Given the description of an element on the screen output the (x, y) to click on. 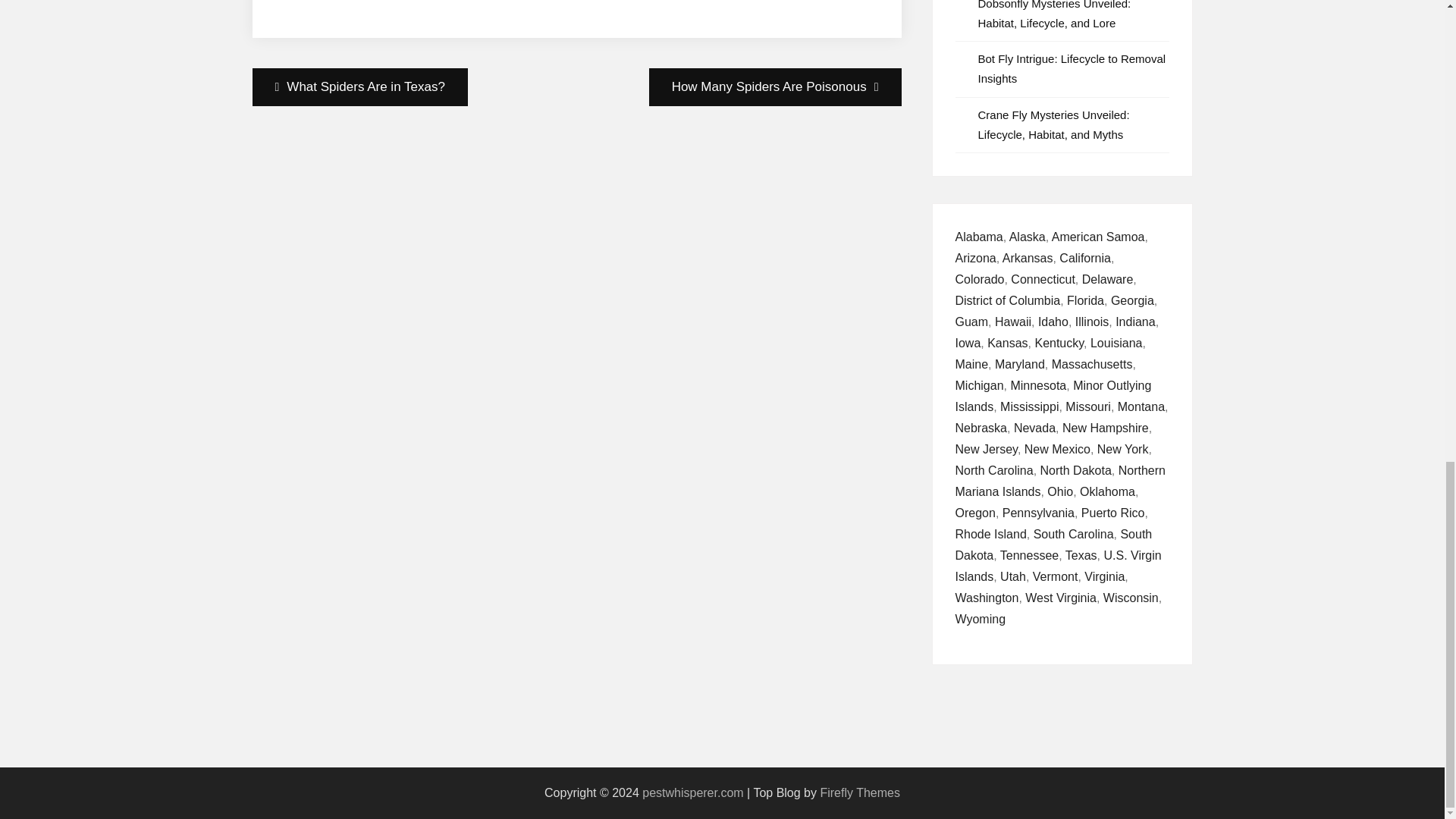
Bot Fly Intrigue: Lifecycle to Removal Insights (1072, 68)
Dobsonfly Mysteries Unveiled: Habitat, Lifecycle, and Lore (1054, 14)
How Many Spiders Are Poisonous (775, 86)
Crane Fly Mysteries Unveiled: Lifecycle, Habitat, and Myths (1053, 124)
What Spiders Are in Texas? (359, 86)
